Given the description of an element on the screen output the (x, y) to click on. 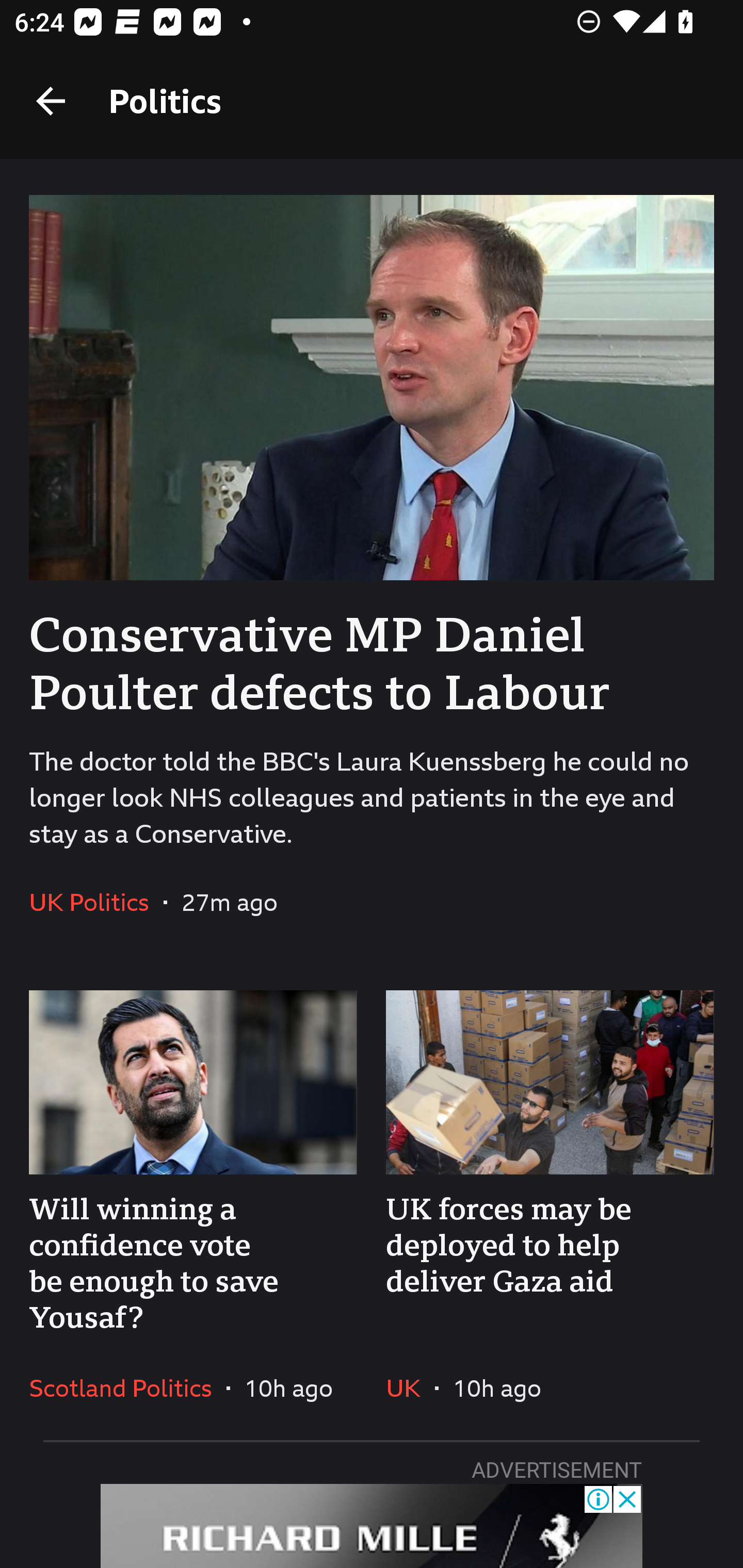
Back (50, 101)
UK Politics In the section UK Politics (95, 901)
Scotland Politics In the section Scotland Politics (127, 1387)
UK In the section UK (409, 1387)
